Given the description of an element on the screen output the (x, y) to click on. 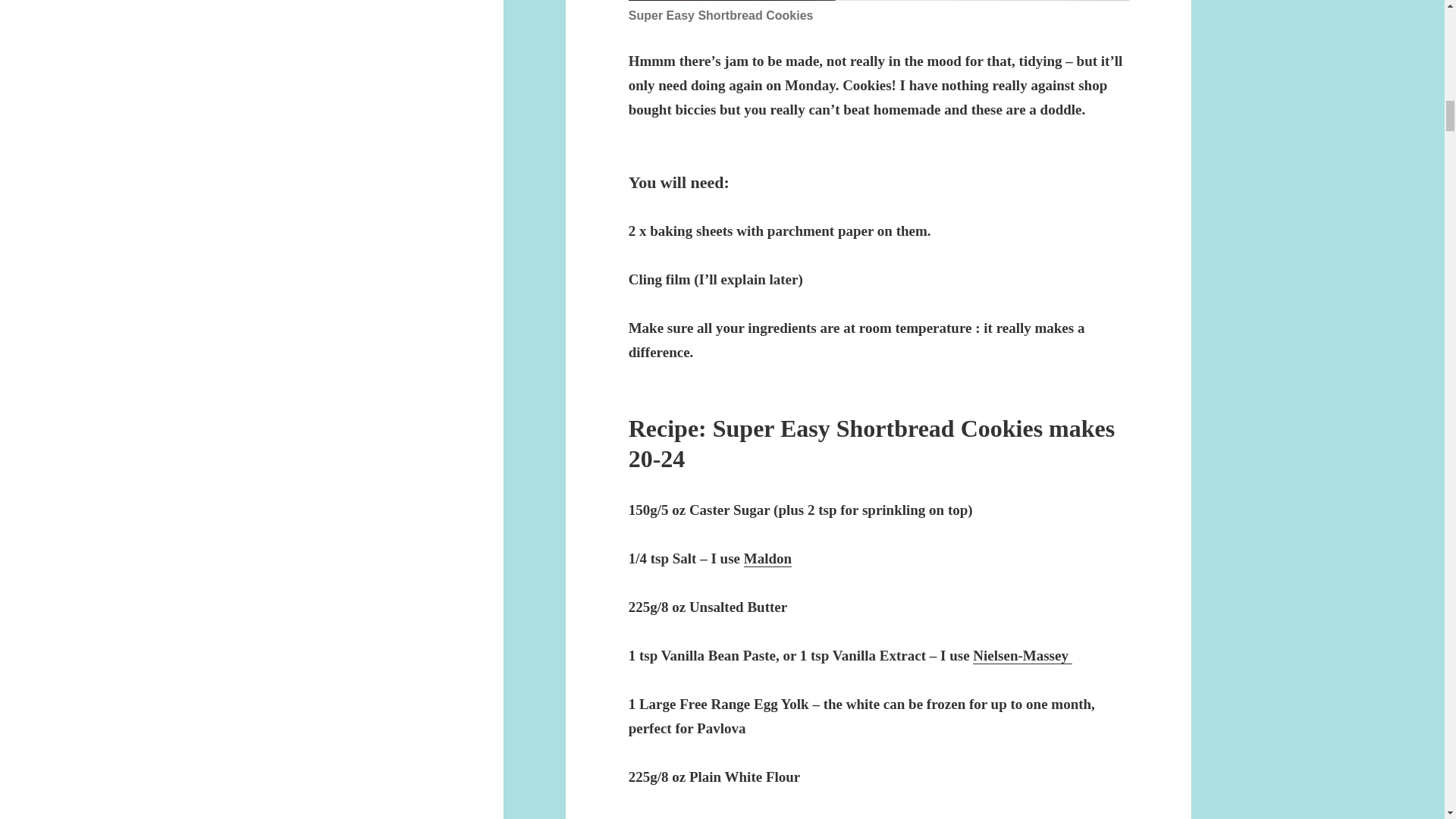
Maldon (768, 558)
Nielsen-Massey  (1021, 655)
